Given the description of an element on the screen output the (x, y) to click on. 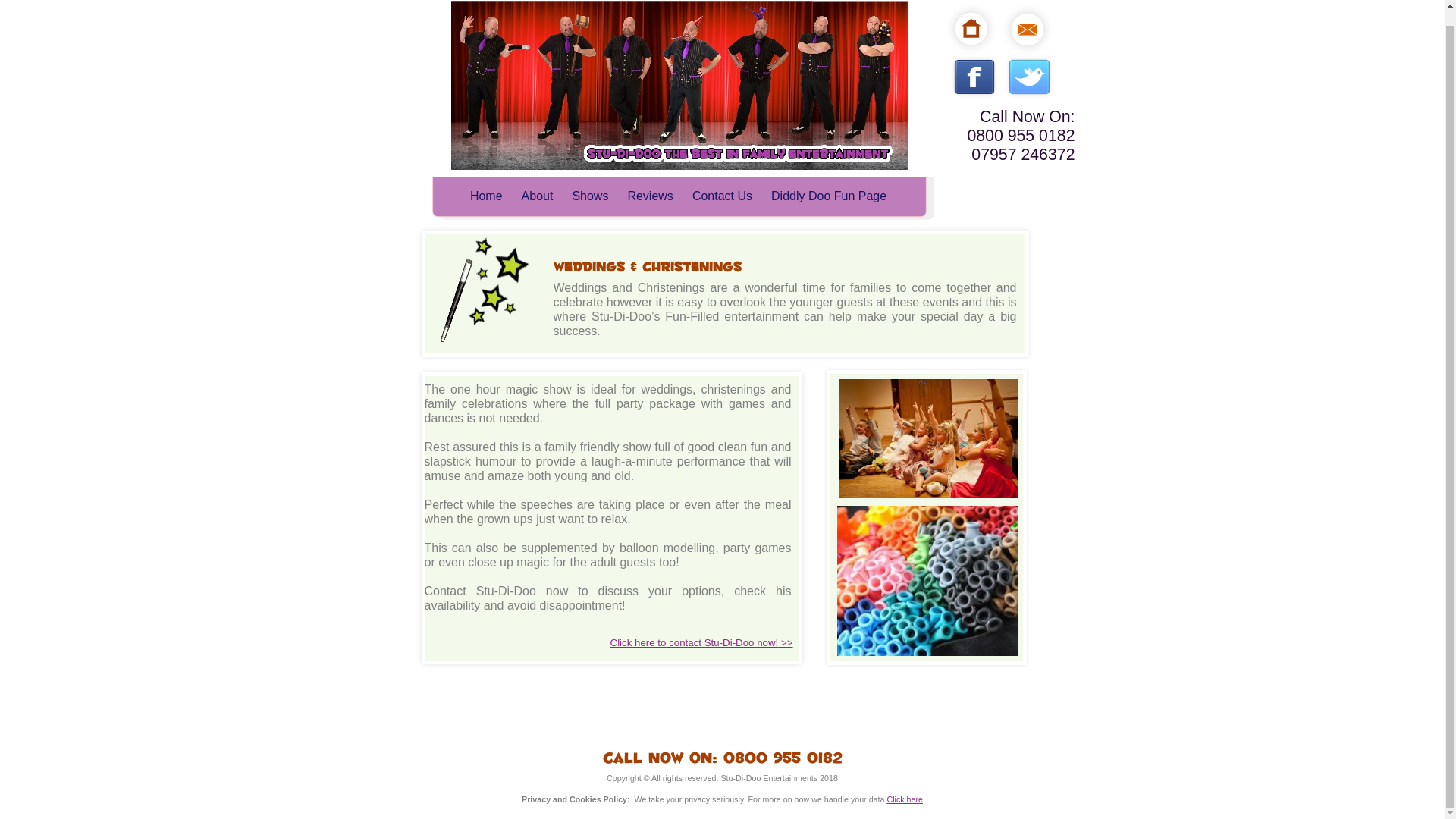
Home (486, 195)
Click here (904, 798)
Contact Us (722, 195)
Click here to contact Stu-Di-Doo now! (694, 642)
Shows (590, 195)
Reviews (649, 195)
Diddly Doo Fun Page (828, 195)
About (537, 195)
